Given the description of an element on the screen output the (x, y) to click on. 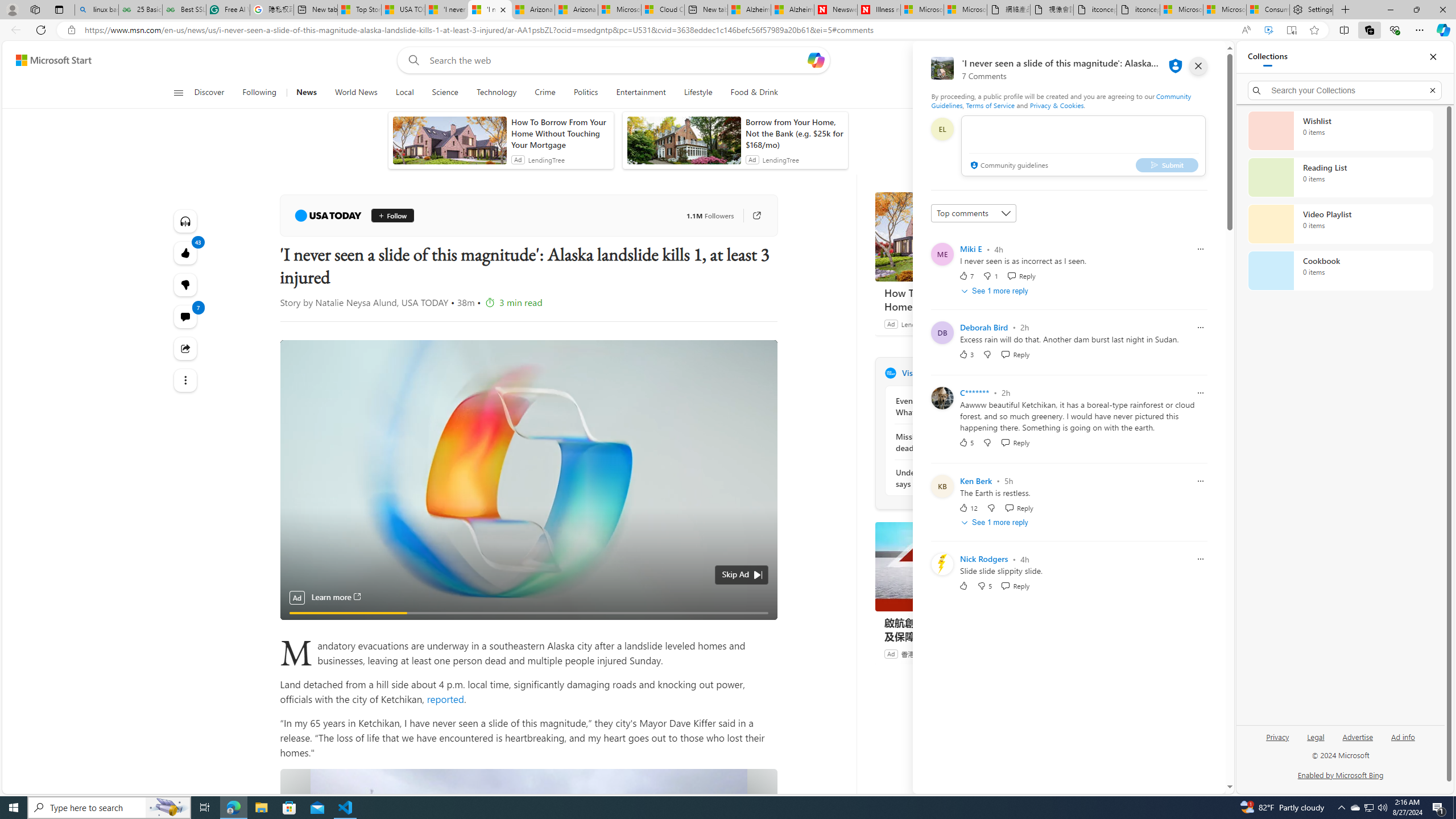
 reported (443, 698)
25 Basic Linux Commands For Beginners - GeeksforGeeks (140, 9)
Enhance video (1268, 29)
View comments 7 Comment (184, 316)
Search your Collections (1345, 90)
Progress Bar (528, 592)
Seek Forward (341, 606)
Best SSL Certificates Provider in India - GeeksforGeeks (184, 9)
